Given the description of an element on the screen output the (x, y) to click on. 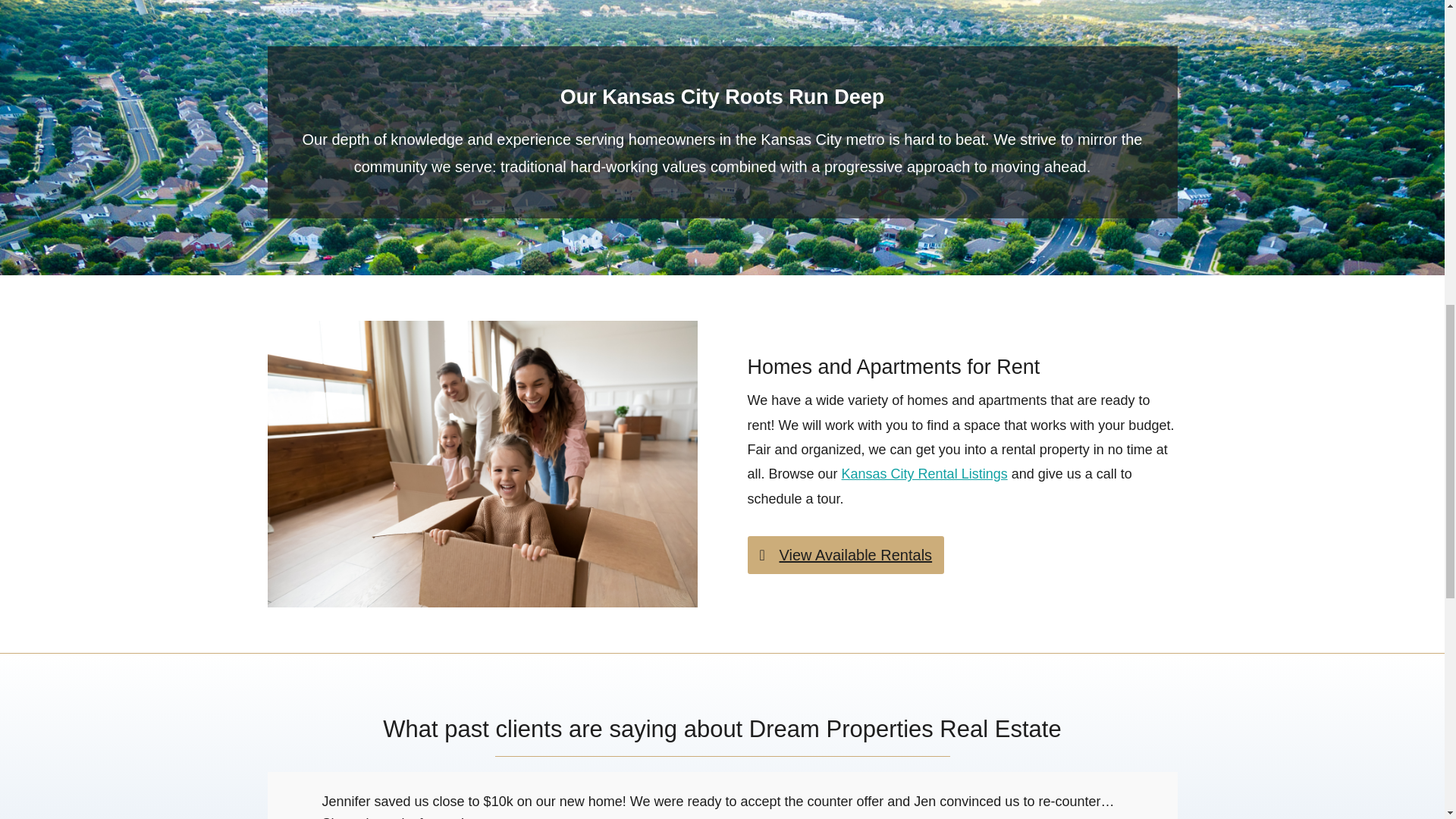
Kansas City Rental Listings (924, 473)
View Available Rentals (846, 555)
